Given the description of an element on the screen output the (x, y) to click on. 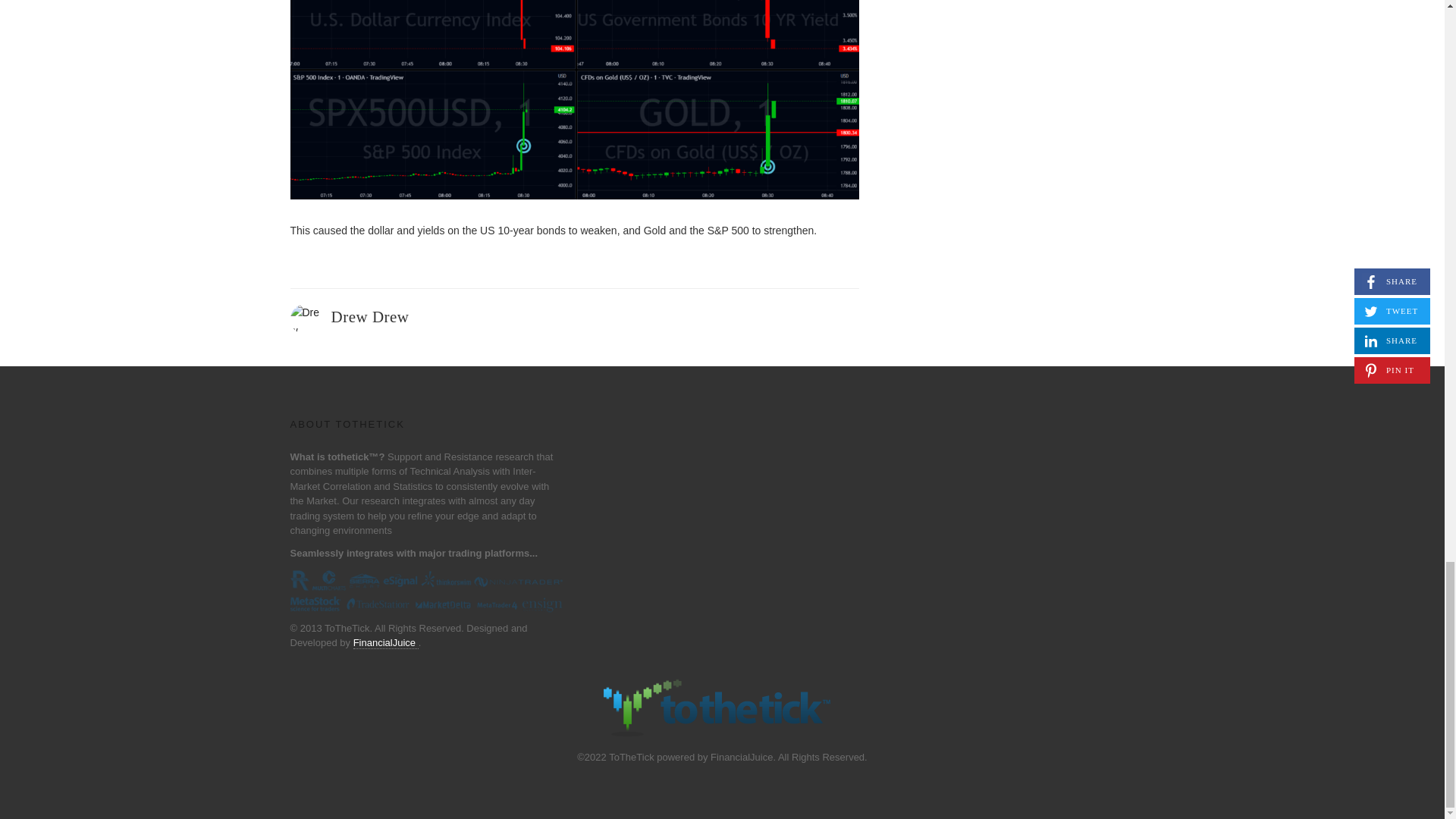
FinancialJuice (386, 643)
Custom WordPress Theme Design (386, 643)
Drew Drew (369, 316)
